Given the description of an element on the screen output the (x, y) to click on. 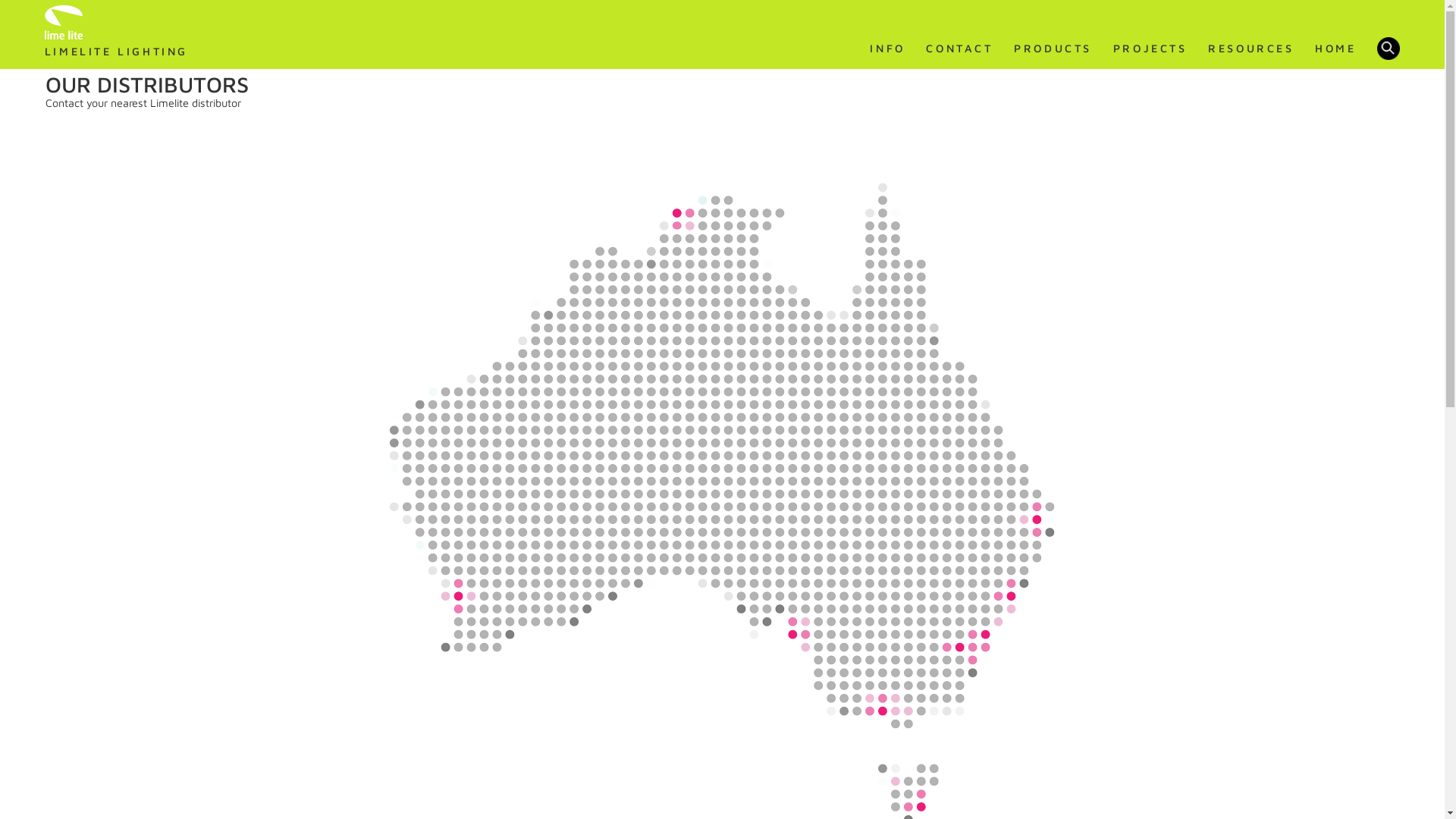
LIMELITE LIGHTING Element type: text (116, 33)
HOME Element type: text (1334, 47)
RESOURCES Element type: text (1250, 47)
INFO Element type: text (886, 47)
CONTACT Element type: text (958, 47)
PRODUCTS Element type: text (1052, 47)
PROJECTS Element type: text (1150, 47)
